Given the description of an element on the screen output the (x, y) to click on. 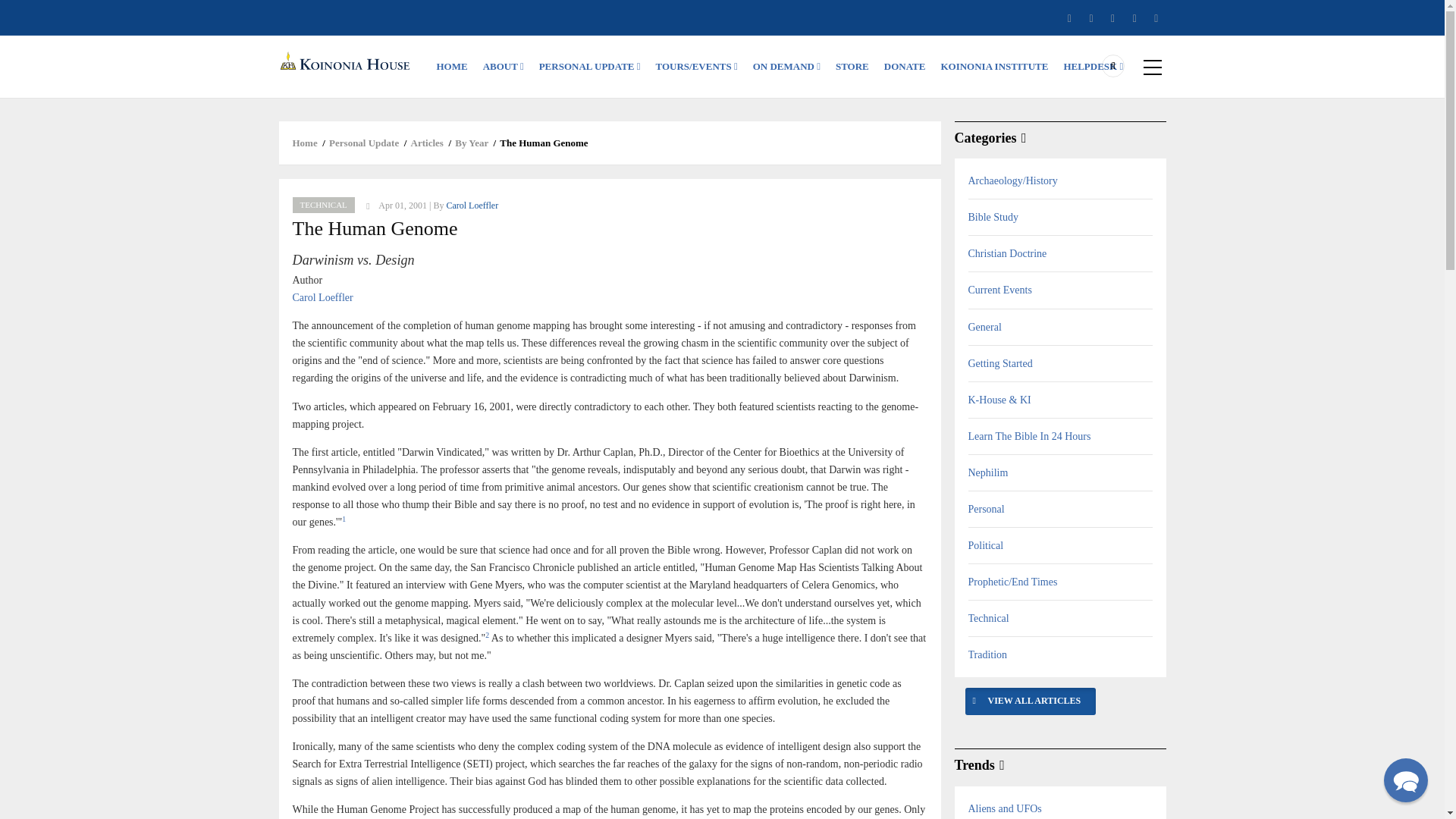
HELPDESK (1093, 66)
KOINONIA INSTITUTE (994, 66)
DONATE (904, 66)
Home (346, 60)
ON DEMAND (786, 66)
Search (1044, 128)
ABOUT (503, 66)
PERSONAL UPDATE (589, 66)
